Given the description of an element on the screen output the (x, y) to click on. 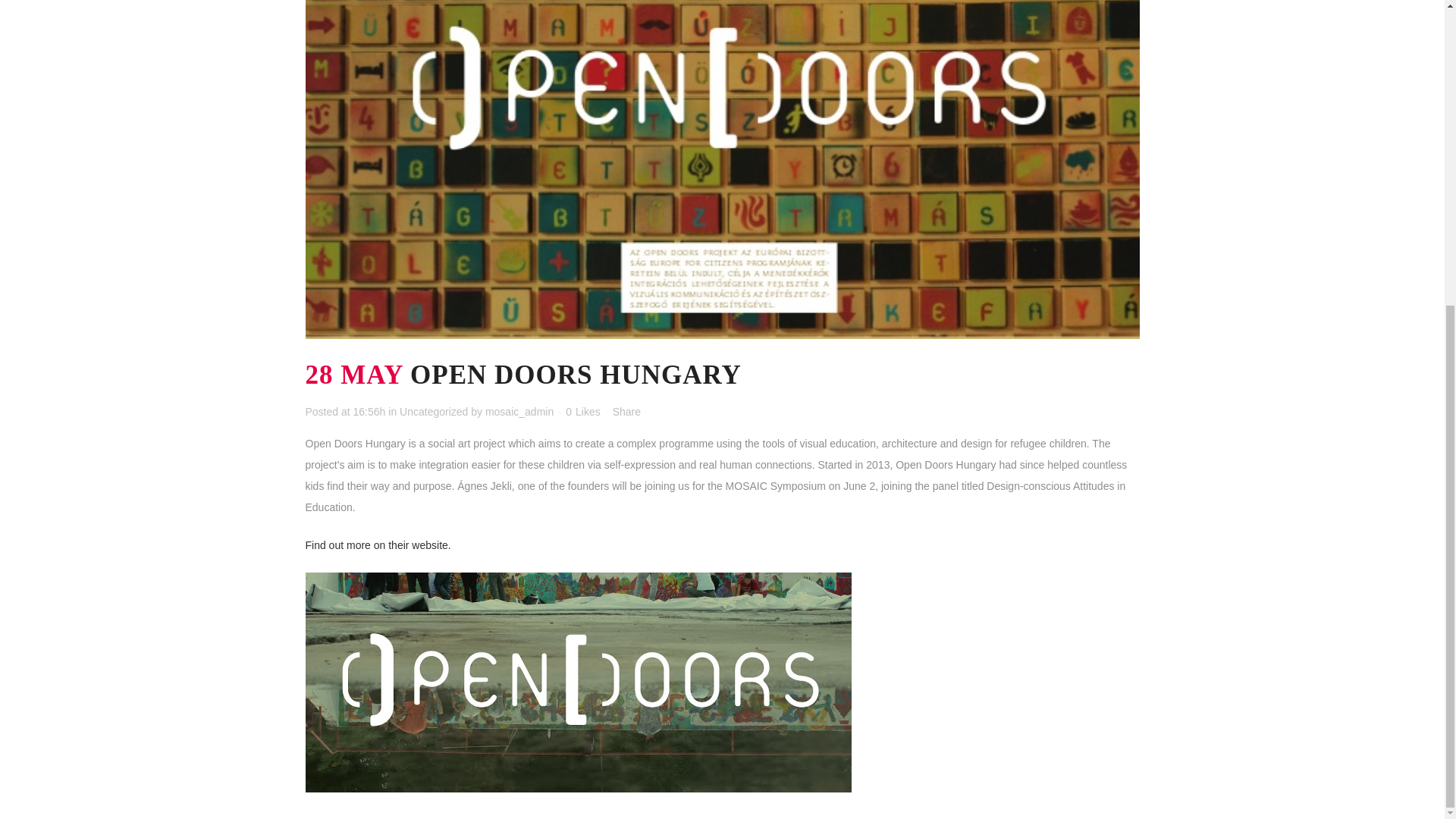
0 Likes (582, 411)
Find out more on their website. (376, 544)
Like this (582, 411)
Uncategorized (432, 411)
Share (626, 411)
